Given the description of an element on the screen output the (x, y) to click on. 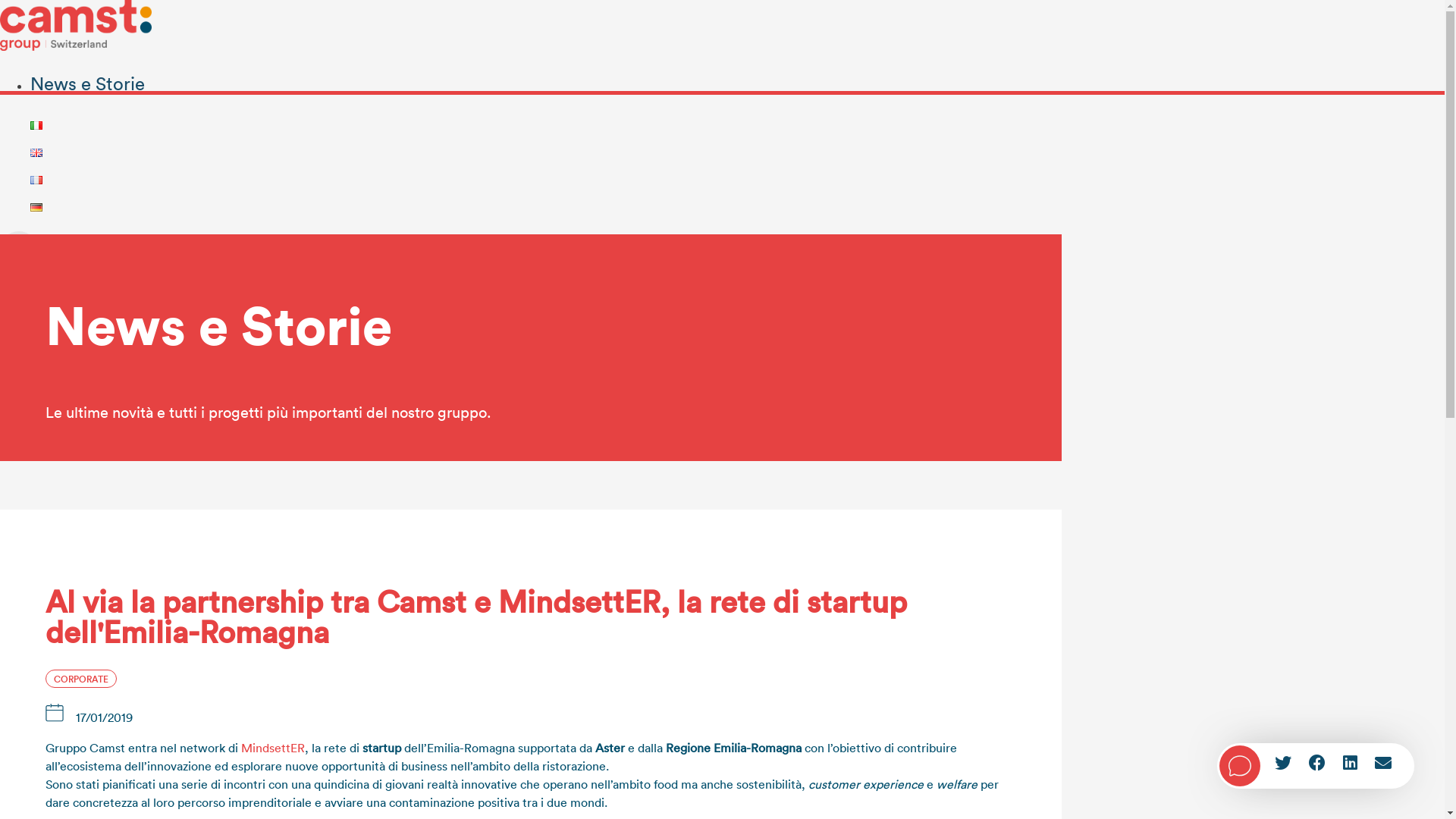
News e Storie Element type: text (87, 82)
MindsettER Element type: text (272, 747)
CORPORATE Element type: text (80, 678)
